Given the description of an element on the screen output the (x, y) to click on. 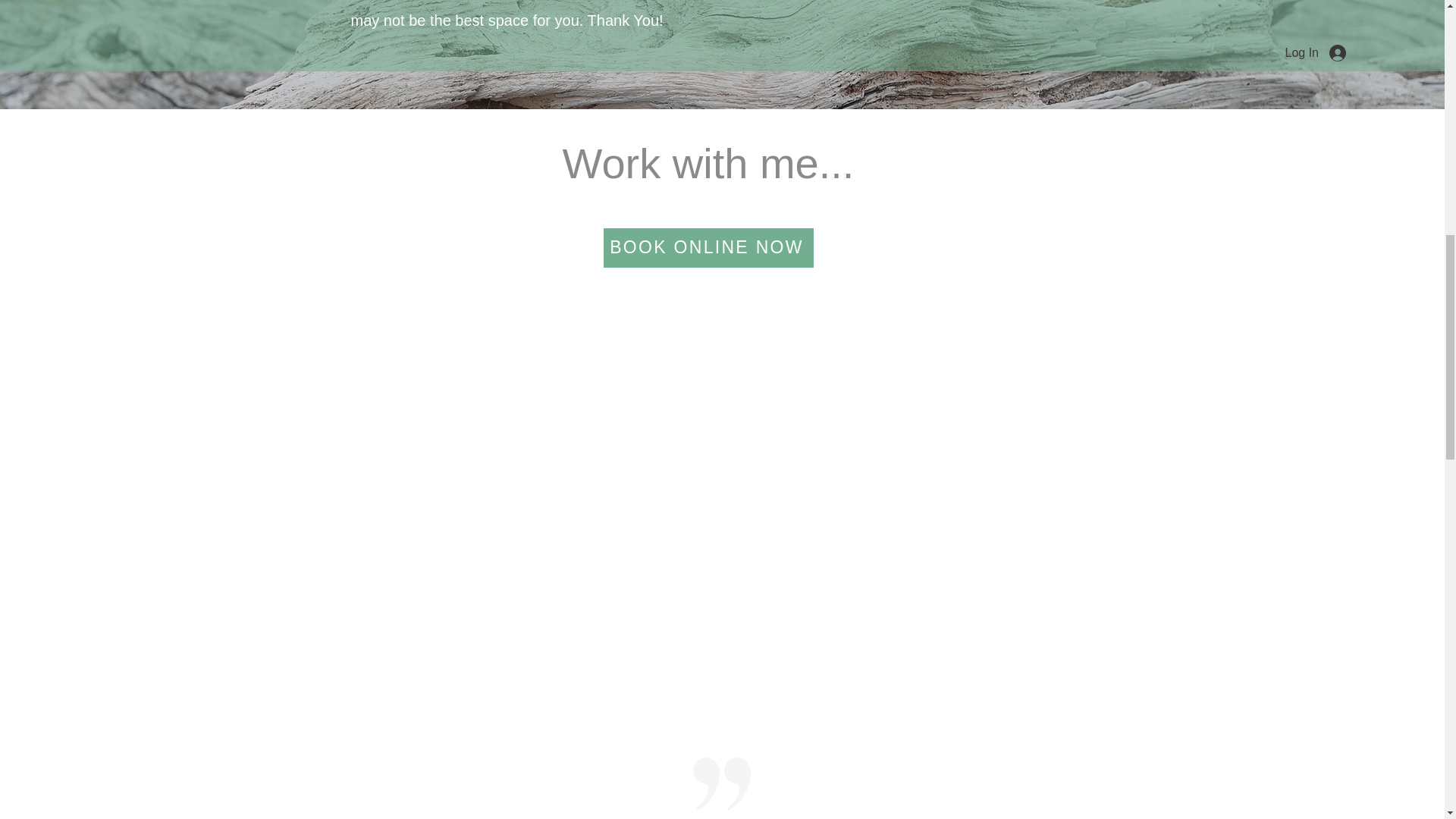
BOOK ONLINE NOW (708, 247)
